Given the description of an element on the screen output the (x, y) to click on. 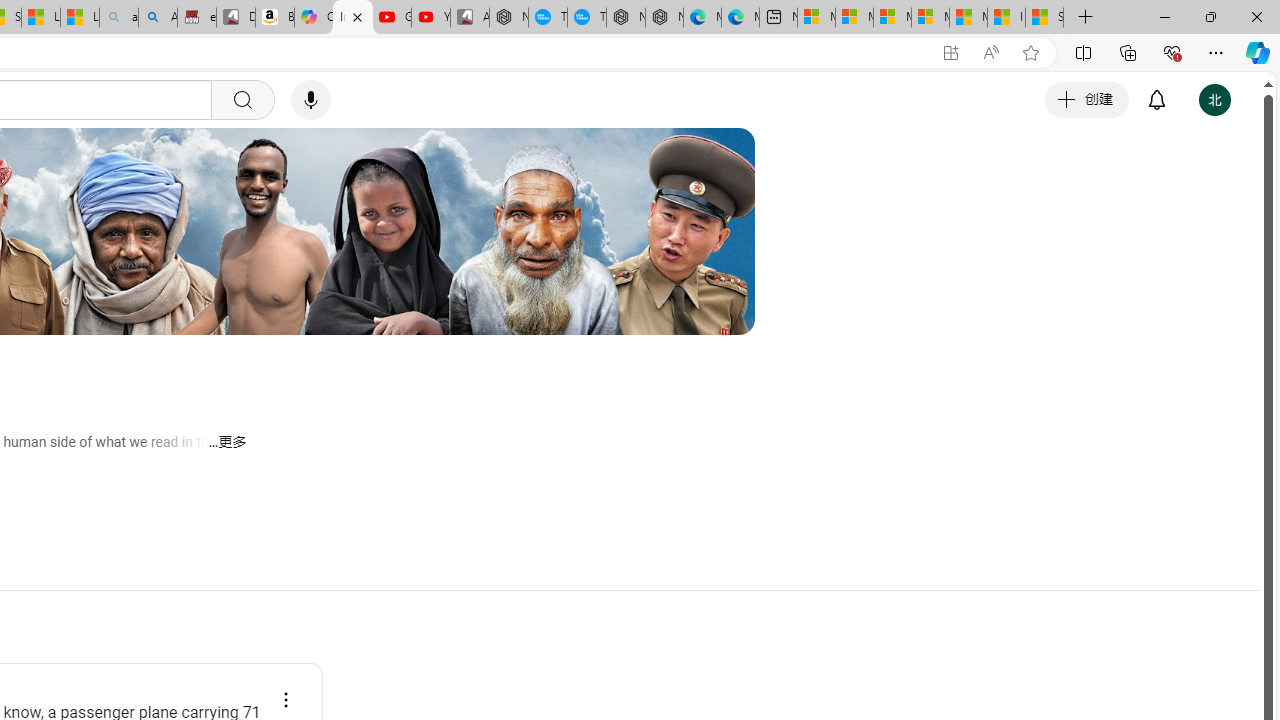
The most popular Google 'how to' searches (586, 17)
Nordace - My Account (509, 17)
Nordace - Nordace has arrived Hong Kong (664, 17)
